Given the description of an element on the screen output the (x, y) to click on. 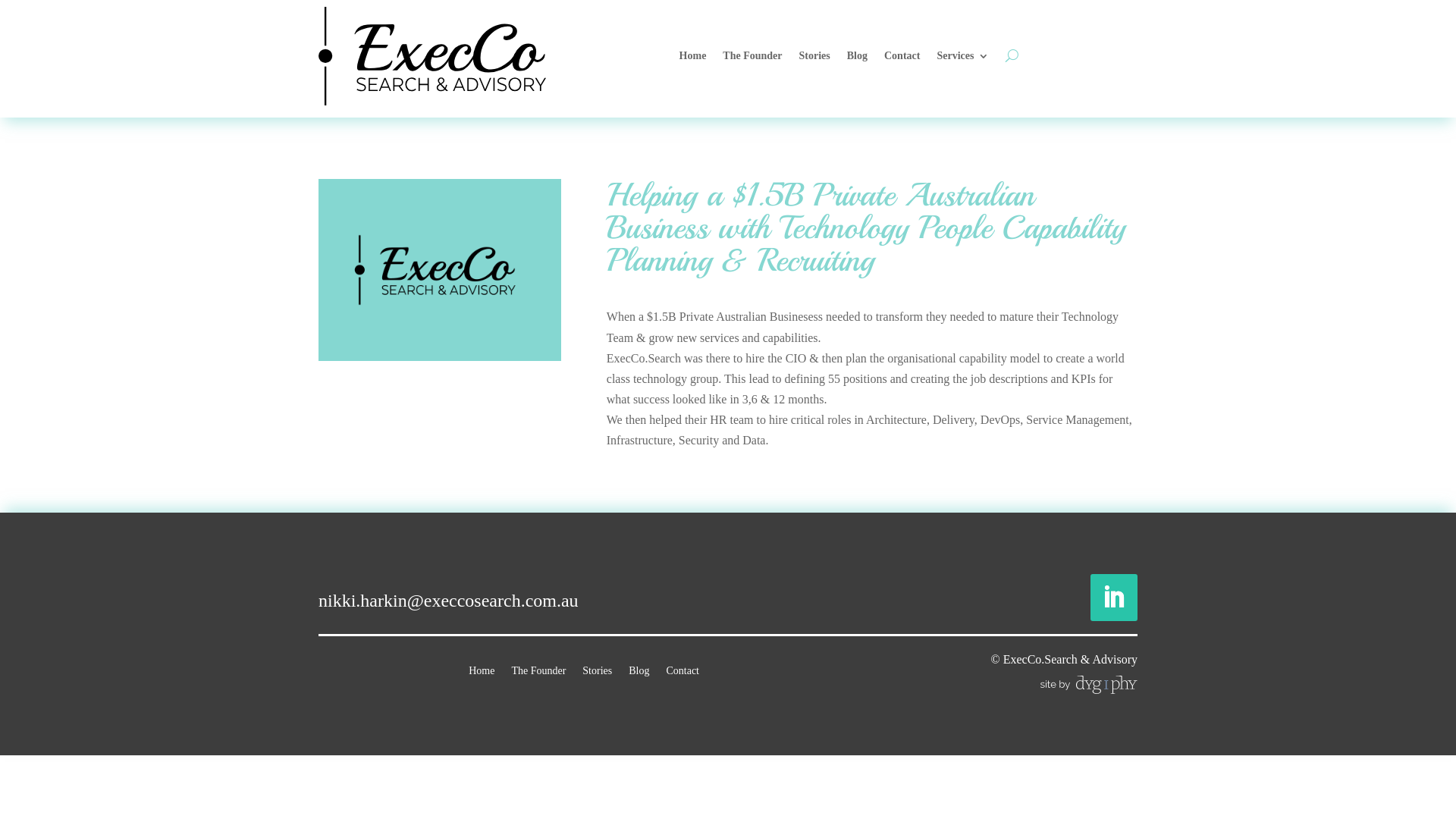
The Founder Element type: text (538, 667)
featured-image-execco-logo-banner Element type: hover (439, 269)
Services Element type: text (962, 55)
Stories Element type: text (814, 55)
Contact Element type: text (901, 55)
Blog Element type: text (638, 667)
Contact Element type: text (682, 667)
Follow on LinkedIn Element type: hover (1113, 597)
Home Element type: text (692, 55)
nikki.harkin@execcosearch.com.au Element type: text (448, 600)
Blog Element type: text (857, 55)
The Founder Element type: text (751, 55)
Home Element type: text (481, 667)
Stories Element type: text (596, 667)
Web development and photography by Dygiphy Element type: hover (1088, 684)
